Given the description of an element on the screen output the (x, y) to click on. 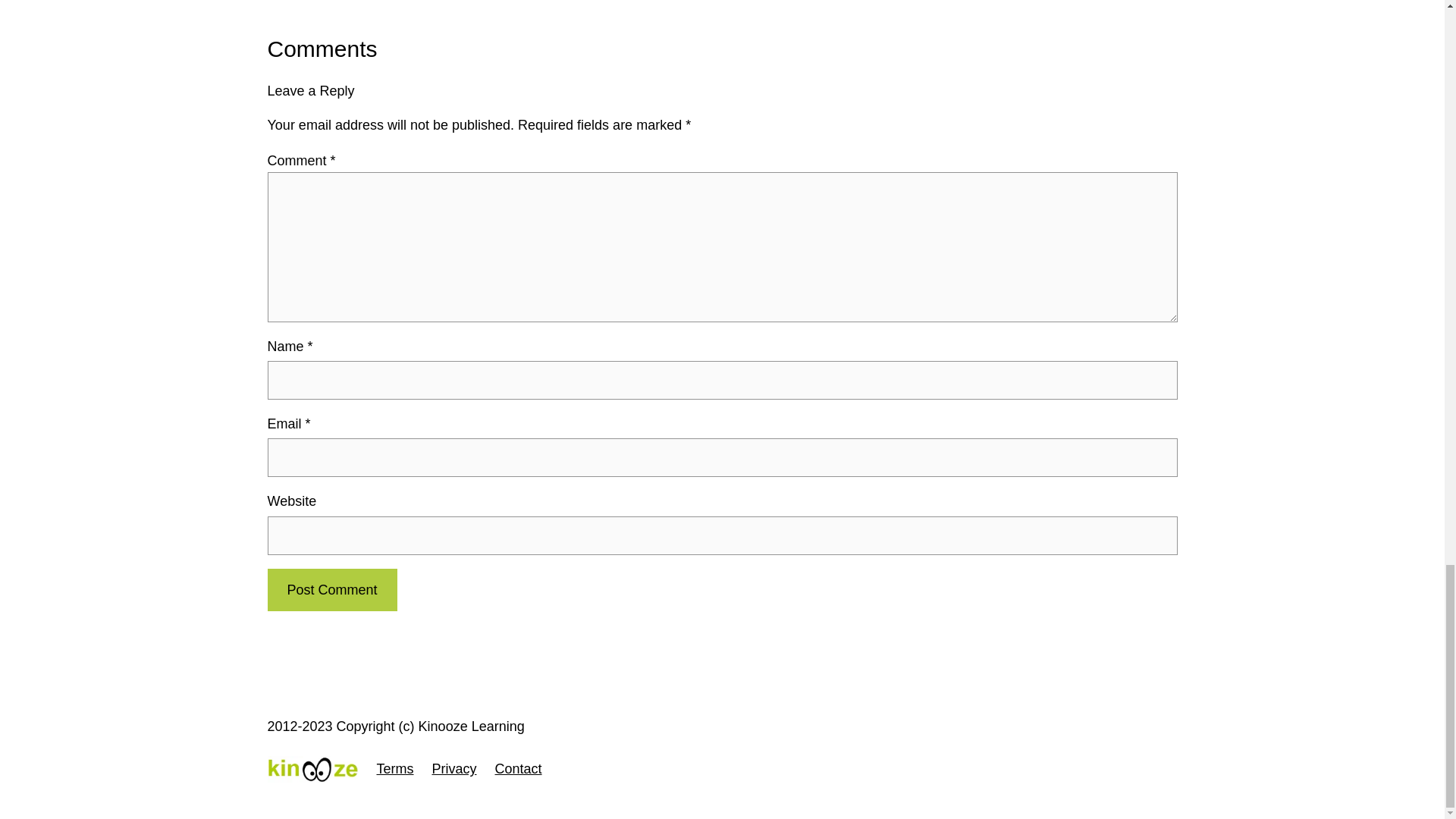
Privacy (454, 768)
Post Comment (331, 589)
Contact (518, 768)
Terms (394, 768)
Post Comment (331, 589)
